Given the description of an element on the screen output the (x, y) to click on. 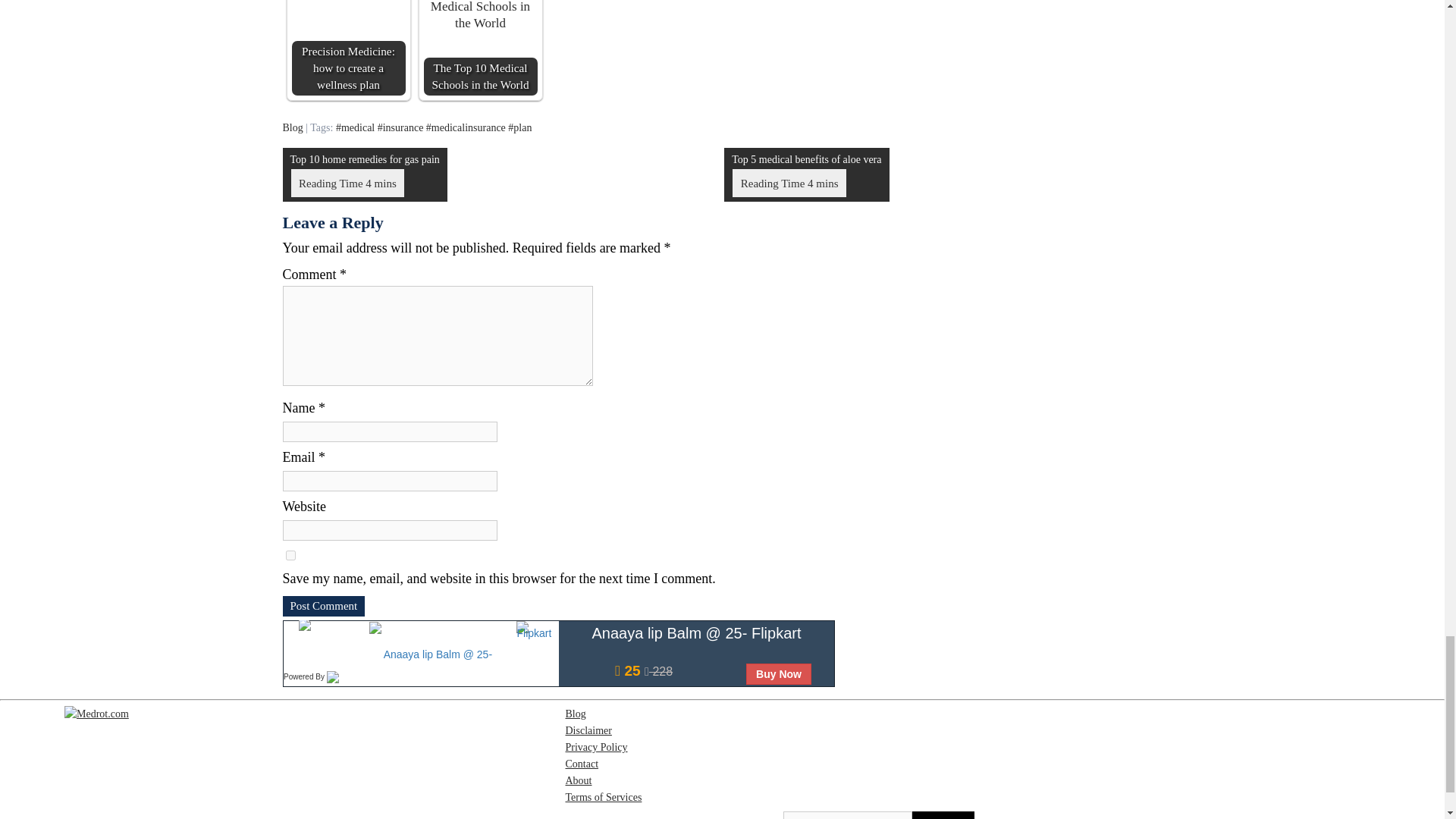
The Top 10 Medical Schools in the World (480, 47)
Top 10 home remedies for gas pain (364, 174)
Search (943, 815)
Blog (292, 127)
Top 5 medical benefits of aloe vera (805, 174)
Search (943, 815)
Precision Medicine: how to create a wellness plan (347, 47)
Post Comment (323, 606)
yes (290, 555)
